Given the description of an element on the screen output the (x, y) to click on. 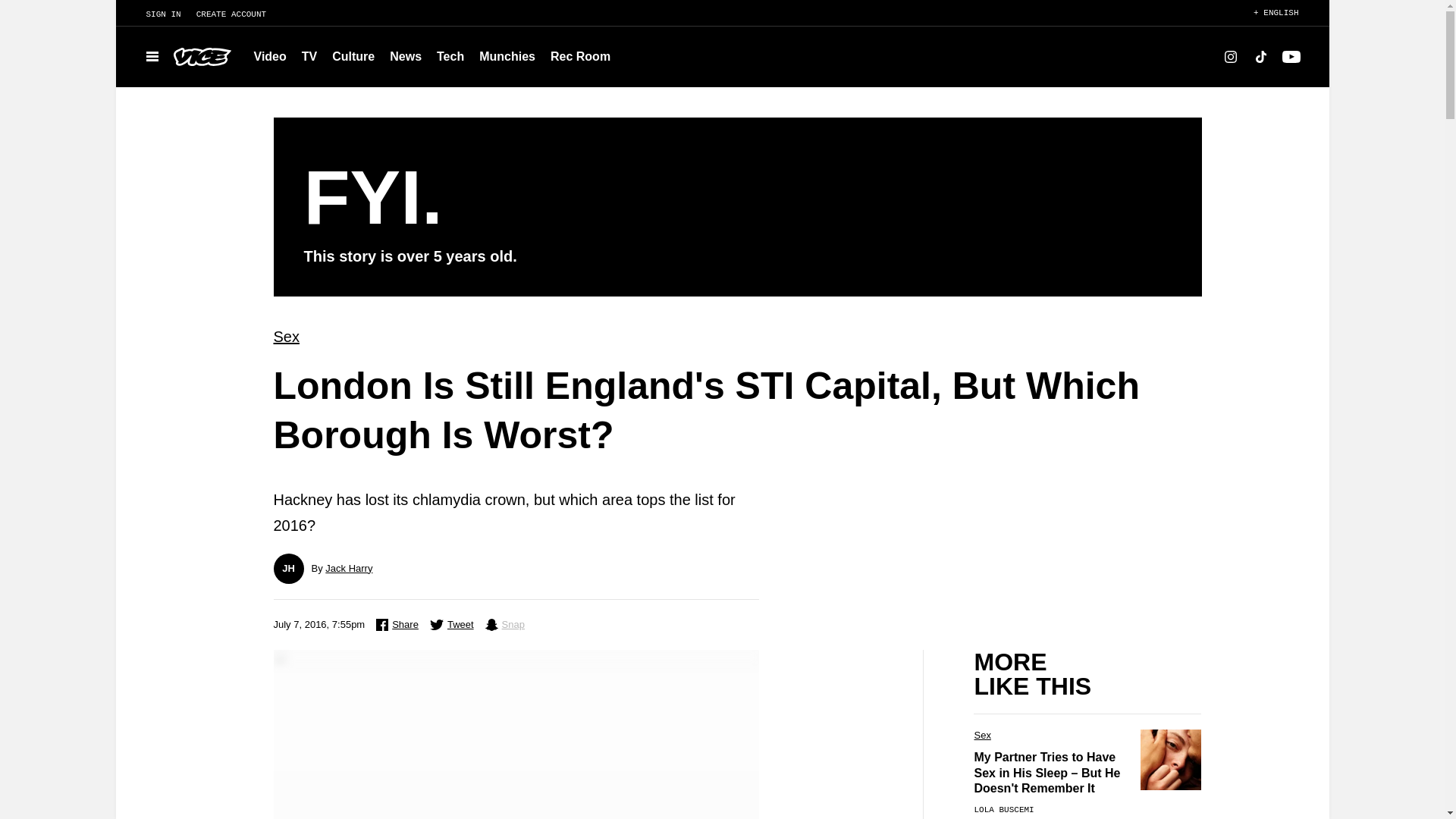
Video (270, 56)
Rec Room (580, 56)
Share on Snapchat (504, 624)
SIGN IN (155, 13)
CREATE ACCOUNT (238, 13)
Tech (450, 56)
Culture (352, 56)
TV (309, 56)
Munchies (507, 56)
News (405, 56)
